Given the description of an element on the screen output the (x, y) to click on. 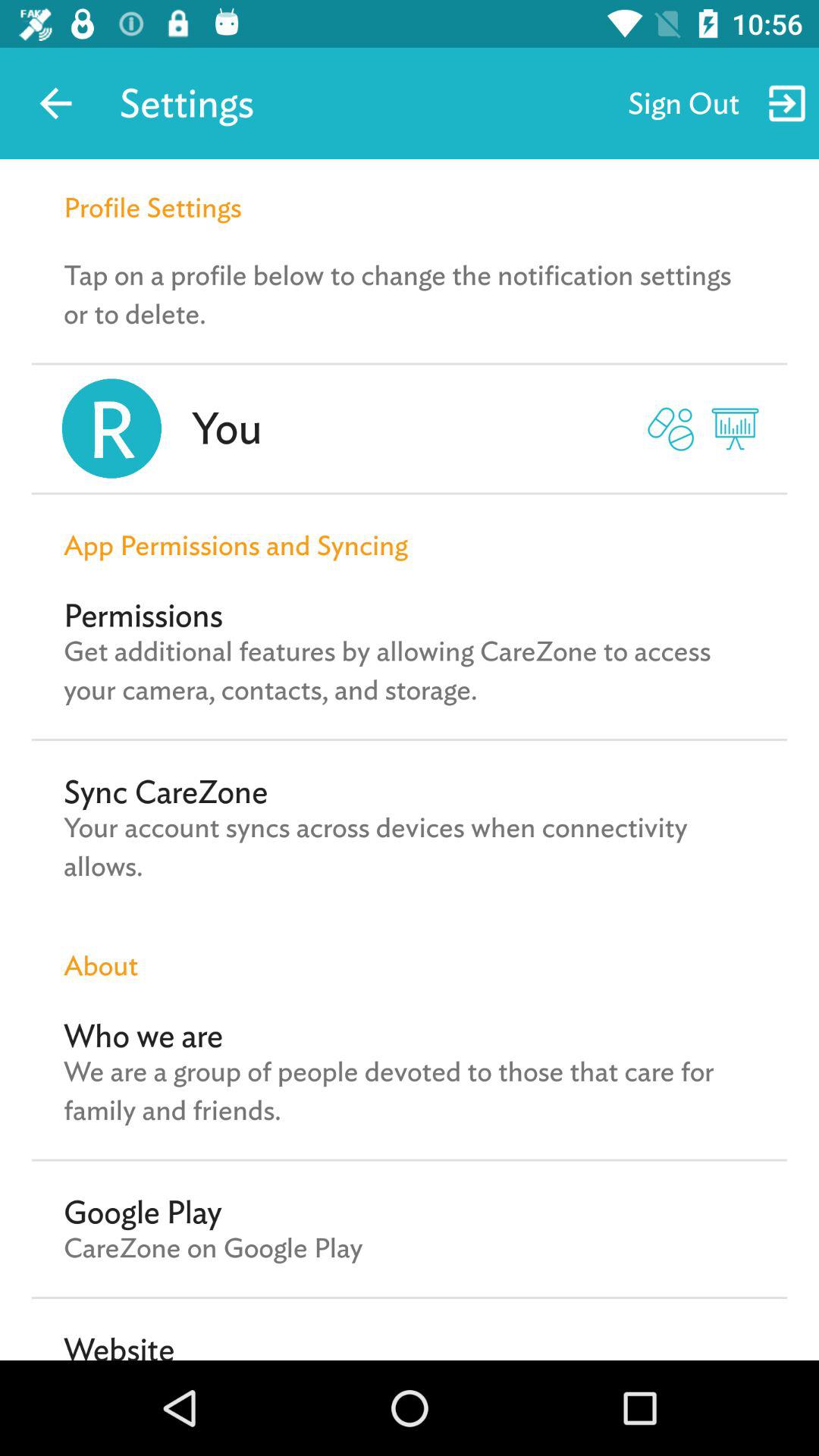
turn on the icon below the profile settings (409, 294)
